Given the description of an element on the screen output the (x, y) to click on. 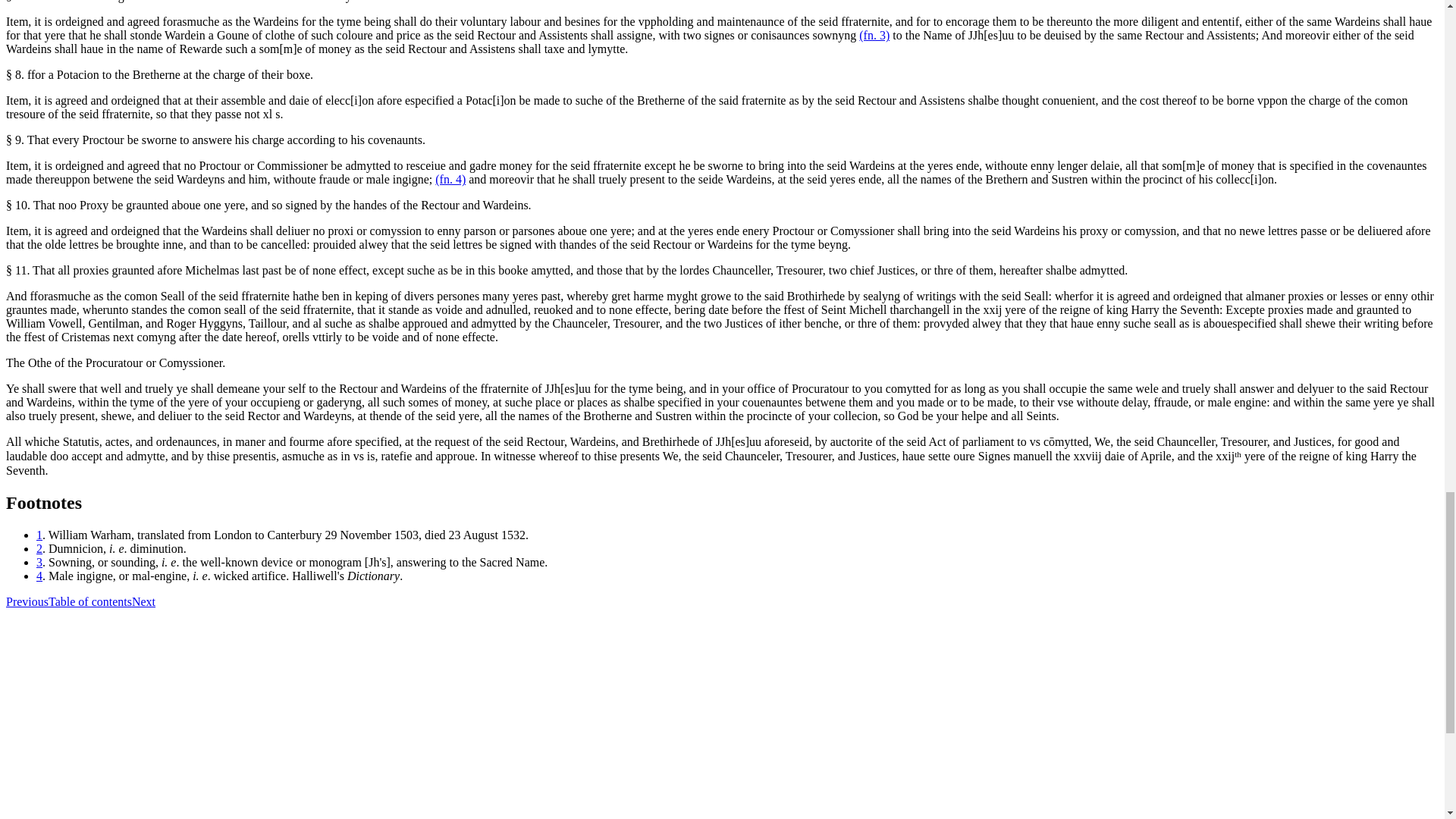
Next (143, 601)
Table of contents (90, 601)
Previous (26, 601)
